Given the description of an element on the screen output the (x, y) to click on. 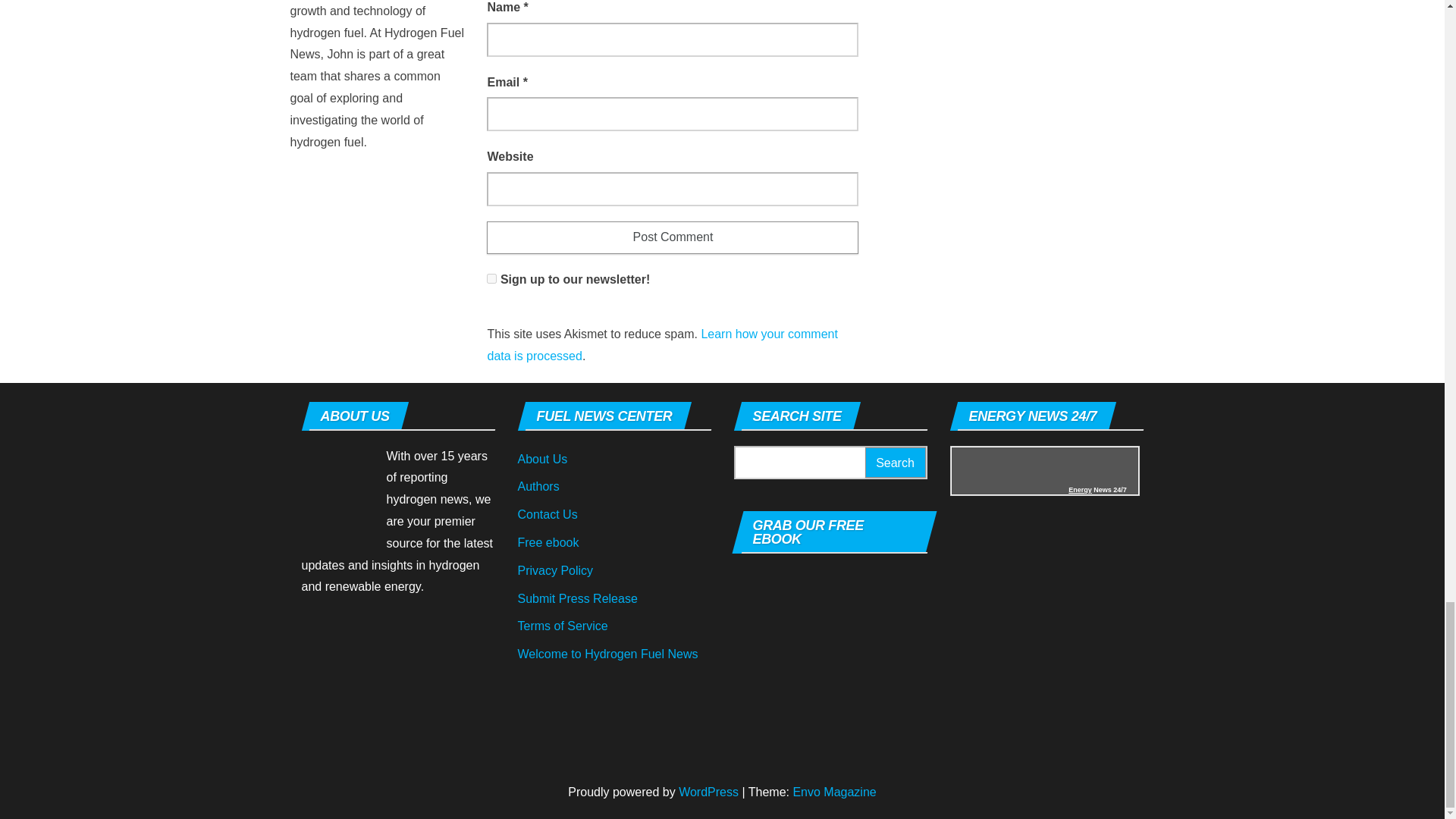
Search (894, 462)
Post Comment (672, 237)
1 (491, 278)
